Given the description of an element on the screen output the (x, y) to click on. 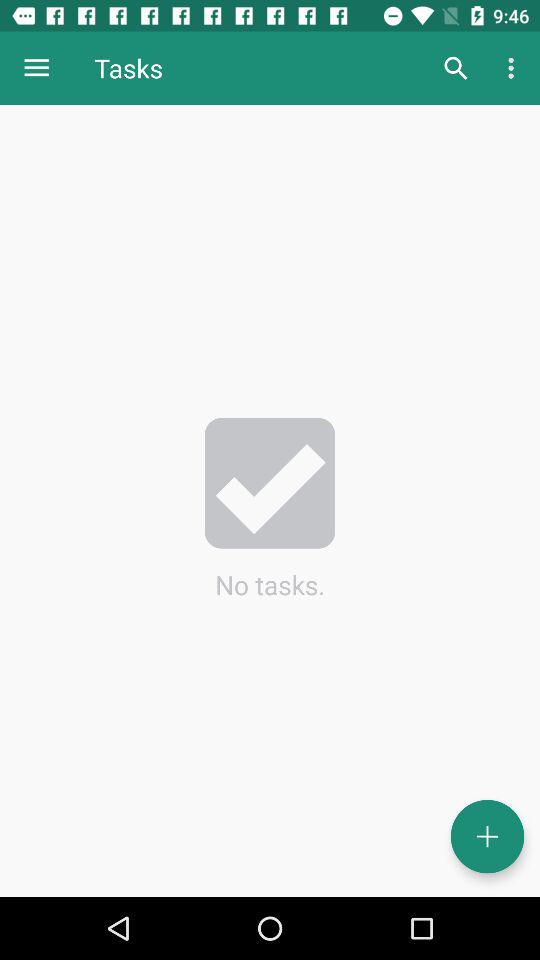
turn on the icon to the left of tasks icon (36, 68)
